Given the description of an element on the screen output the (x, y) to click on. 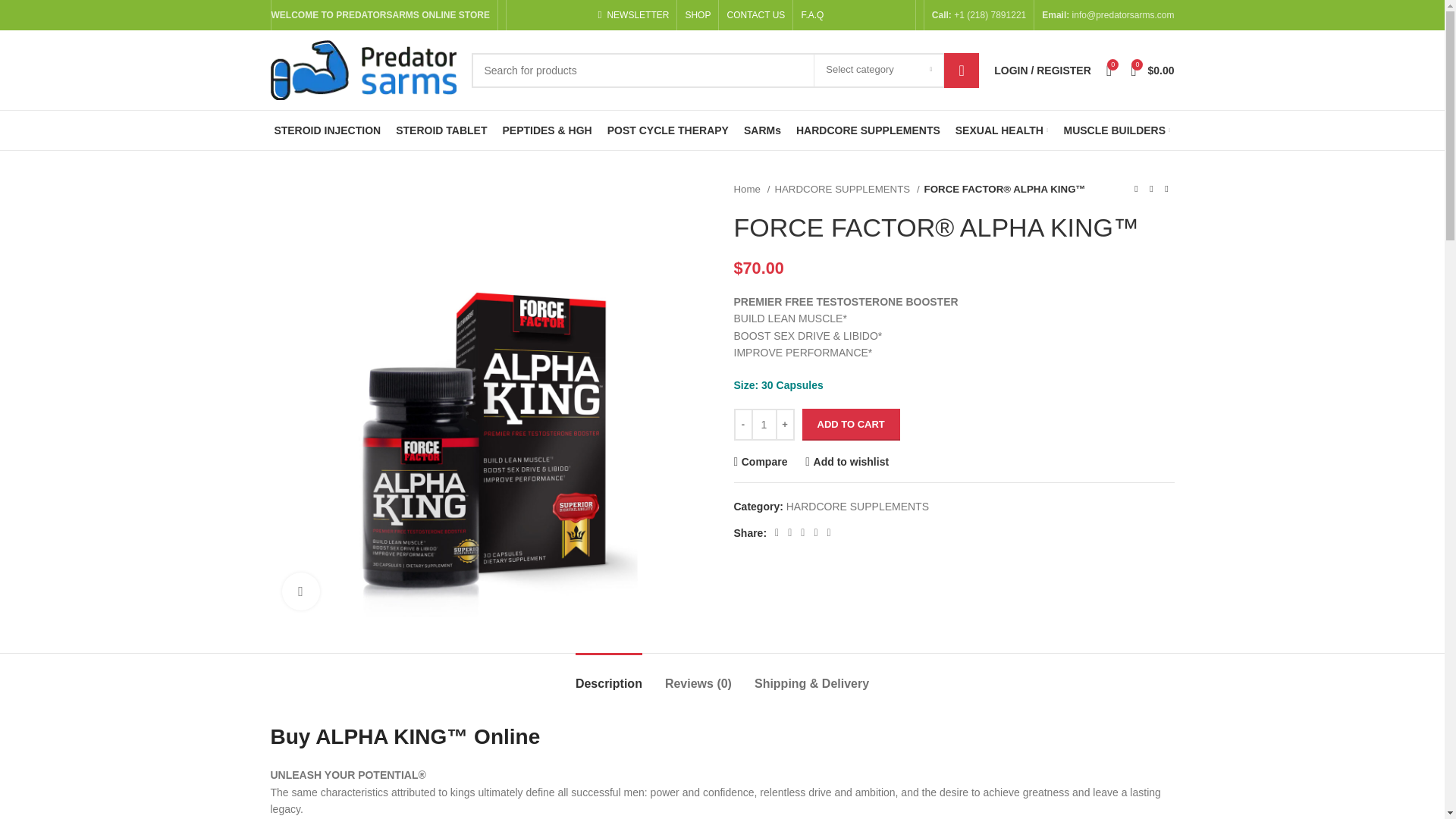
NEWSLETTER (632, 15)
SARMs (762, 130)
Search for products (725, 70)
STEROID TABLET (441, 130)
Shopping cart (1151, 69)
MUSCLE BUILDERS (1116, 130)
STEROID INJECTION (326, 130)
Select category (878, 70)
POST CYCLE THERAPY (668, 130)
SEXUAL HEALTH (1001, 130)
